Given the description of an element on the screen output the (x, y) to click on. 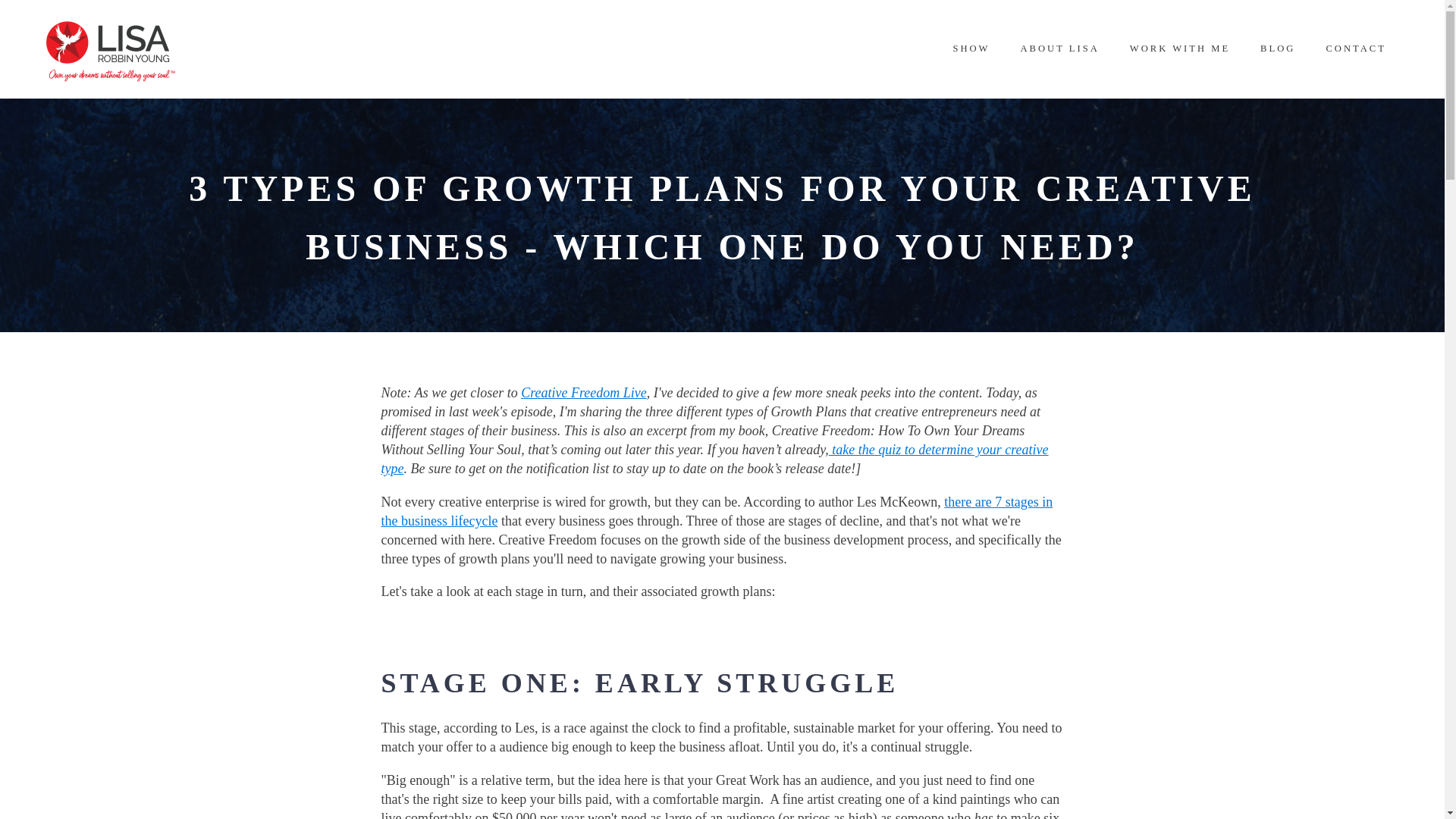
CONTACT (1355, 49)
ABOUT LISA (1058, 49)
Creative Freedom Live (583, 392)
BLOG (1277, 49)
SHOW (970, 49)
WORK WITH ME (1179, 49)
there are 7 stages in the business lifecycle (716, 511)
 take the quiz to determine your creative type (714, 458)
